Given the description of an element on the screen output the (x, y) to click on. 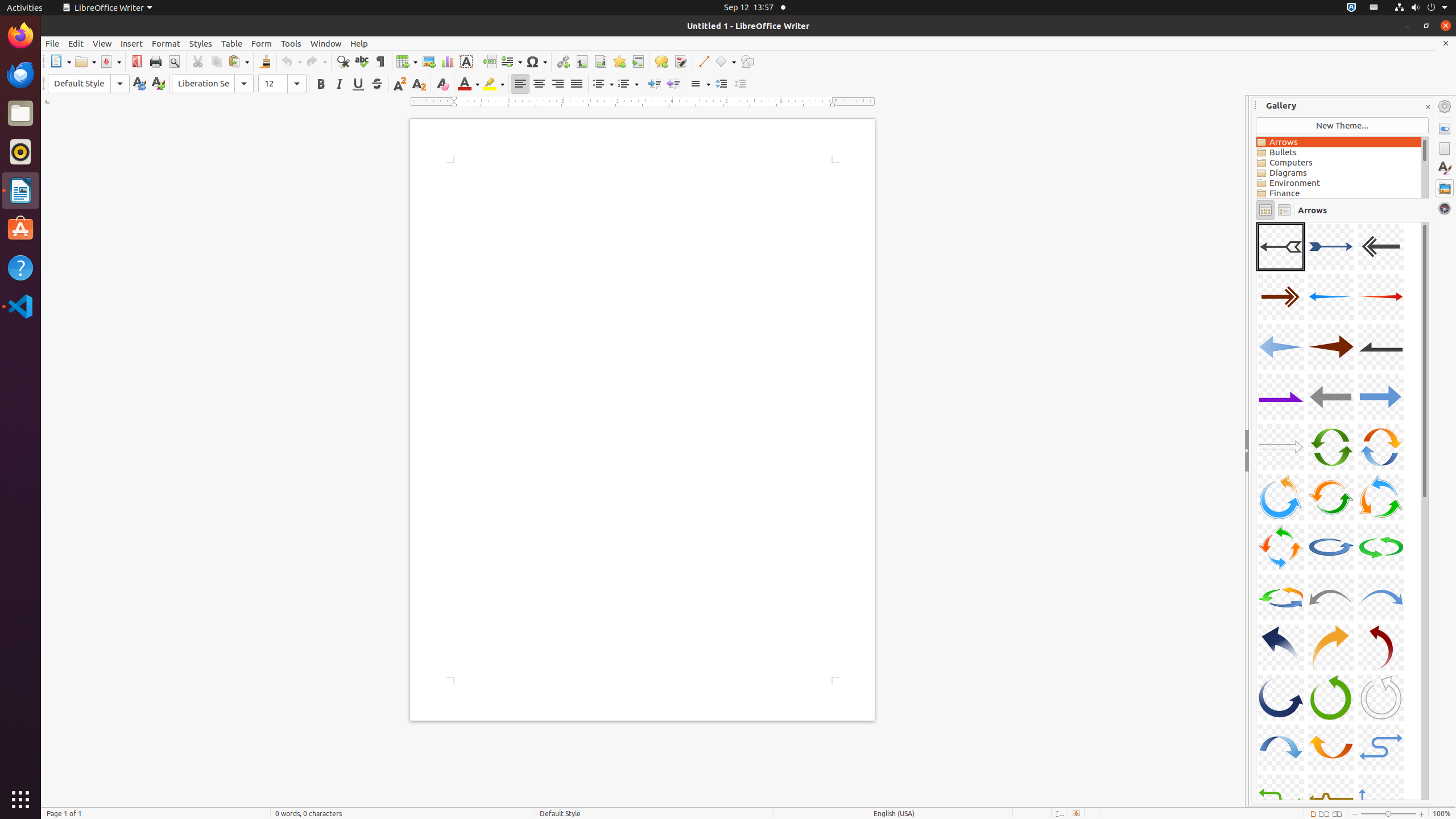
A19-CircleArrow Element type: list-item (1280, 546)
Clear Element type: push-button (441, 83)
Arrows Element type: list-item (1338, 142)
Ubuntu Software Element type: push-button (20, 229)
A01-Arrow-Gray-Left Element type: list-item (1280, 246)
